Given the description of an element on the screen output the (x, y) to click on. 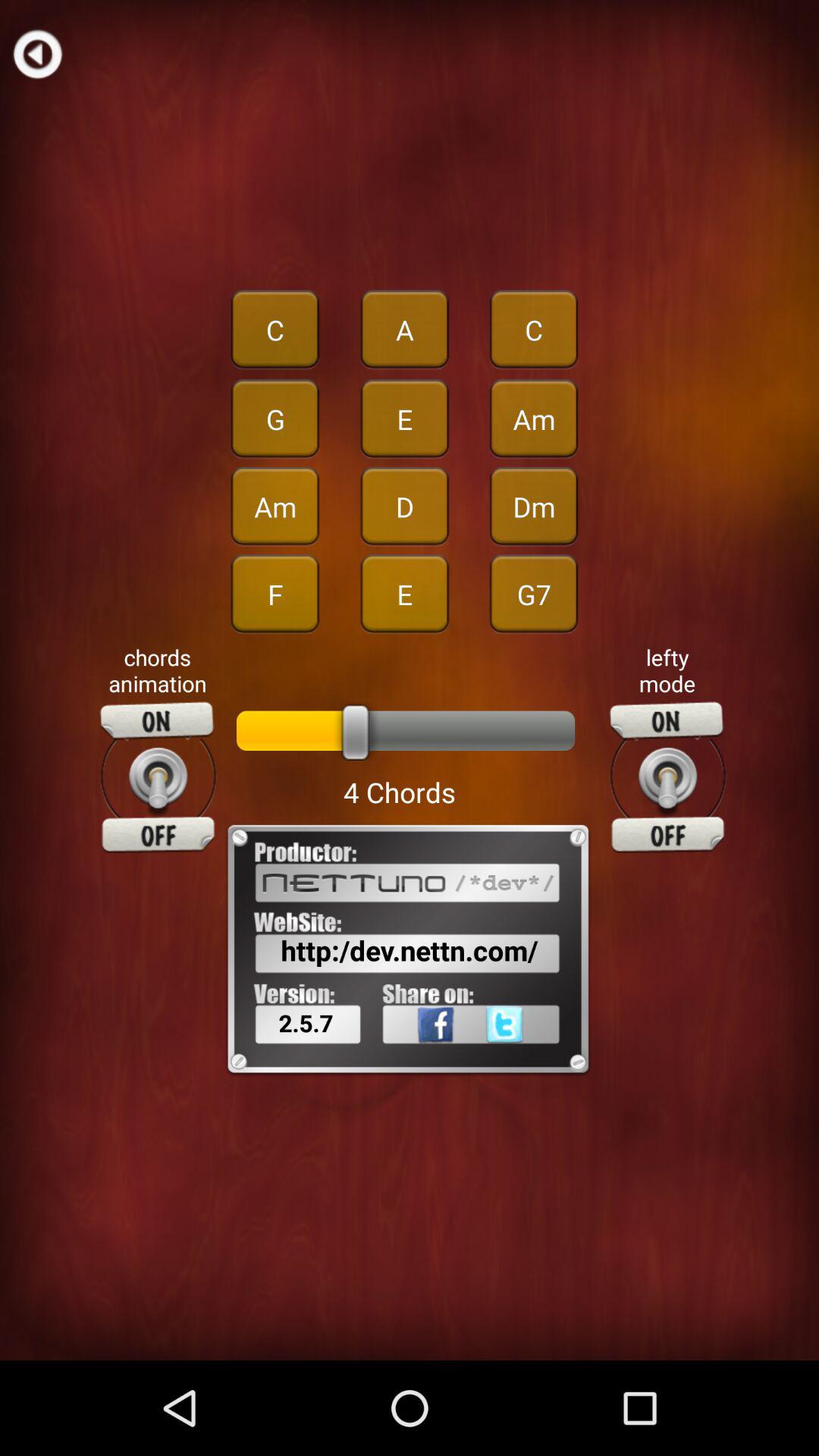
share on twitter (528, 1057)
